Given the description of an element on the screen output the (x, y) to click on. 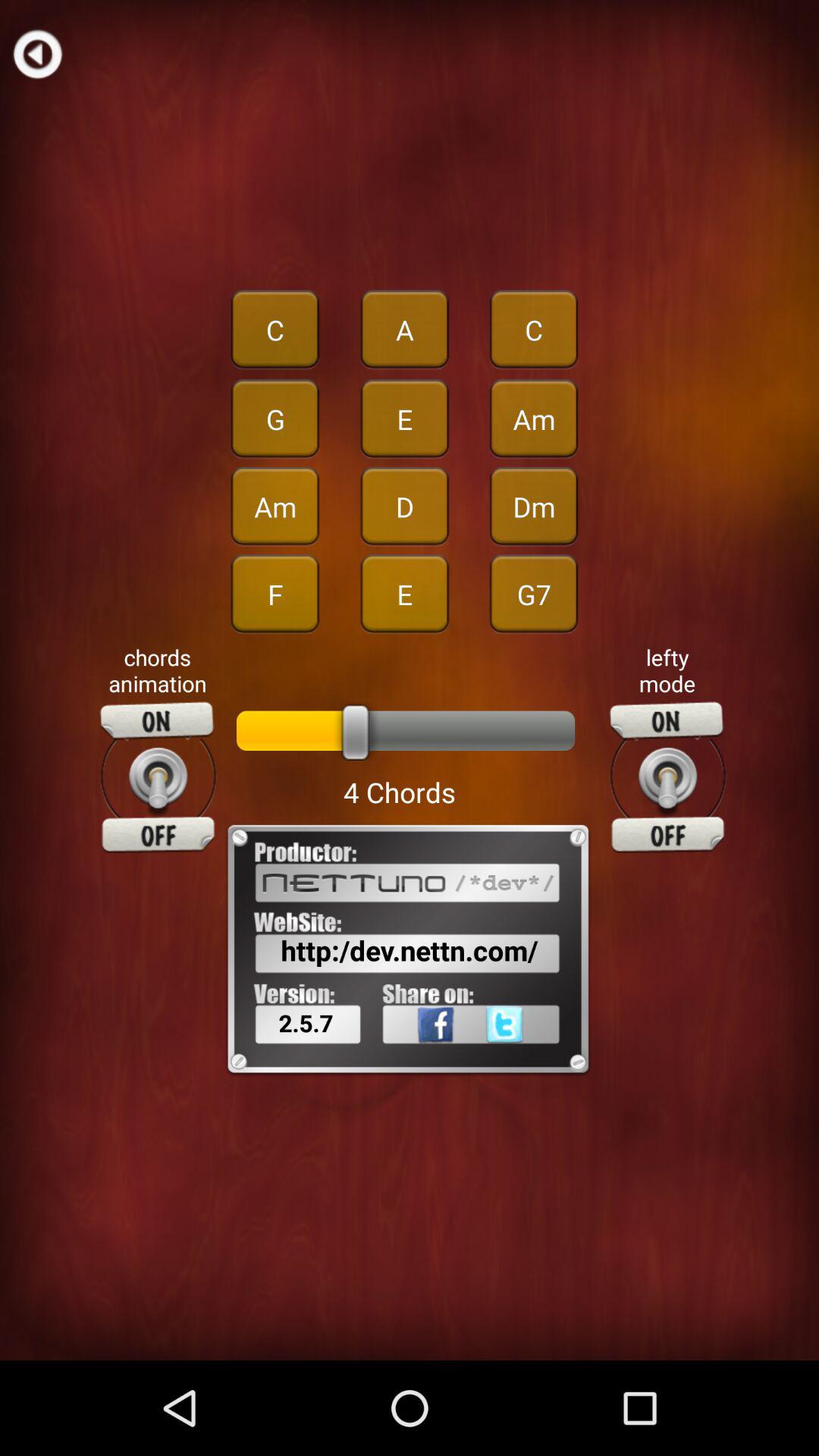
share on twitter (528, 1057)
